Given the description of an element on the screen output the (x, y) to click on. 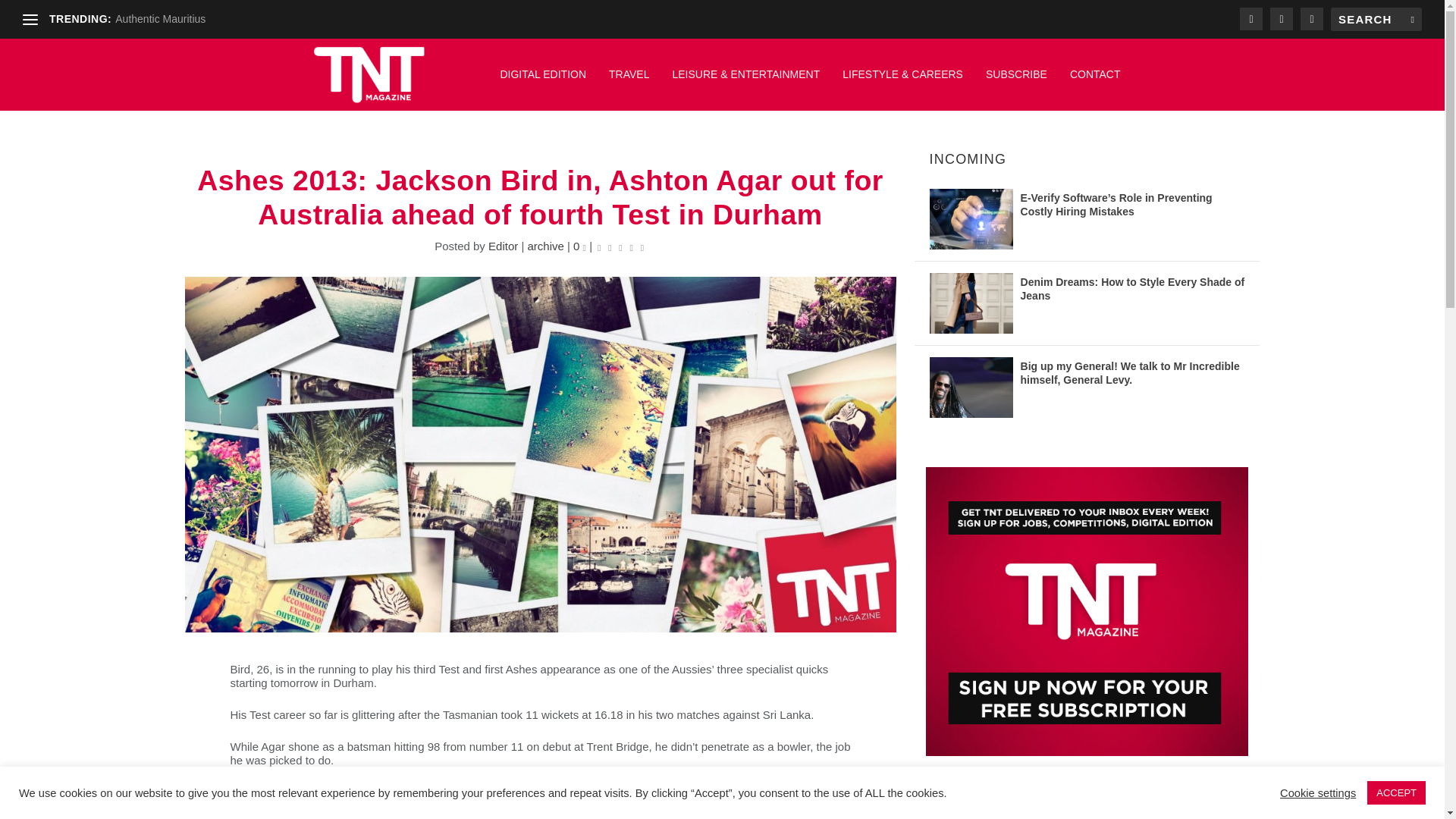
SUBSCRIBE (1015, 82)
Editor (502, 245)
DIGITAL EDITION (542, 82)
0 (579, 245)
Rating: 0.00 (620, 246)
Authentic Mauritius (160, 19)
Posts by Editor (502, 245)
archive (545, 245)
Search for: (1376, 19)
